Given the description of an element on the screen output the (x, y) to click on. 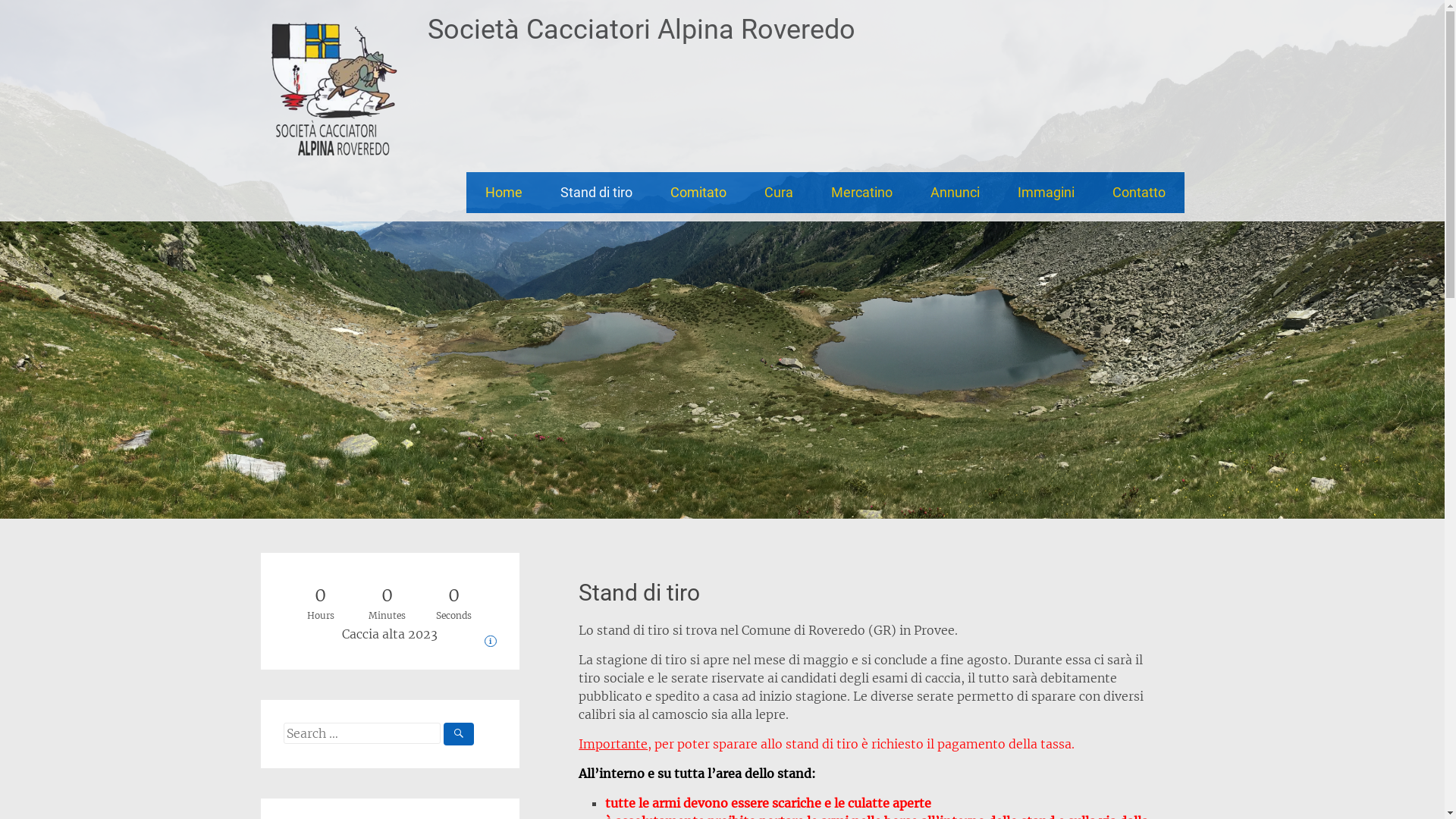
Mercatino Element type: text (860, 192)
Contatto Element type: text (1138, 192)
Annunci Element type: text (954, 192)
i Element type: text (490, 640)
Immagini Element type: text (1044, 192)
Home Element type: text (502, 192)
Search Element type: text (29, 12)
Cura Element type: text (777, 192)
Skip to content Element type: text (524, 181)
Comitato Element type: text (697, 192)
Stand di tiro Element type: text (596, 192)
